Given the description of an element on the screen output the (x, y) to click on. 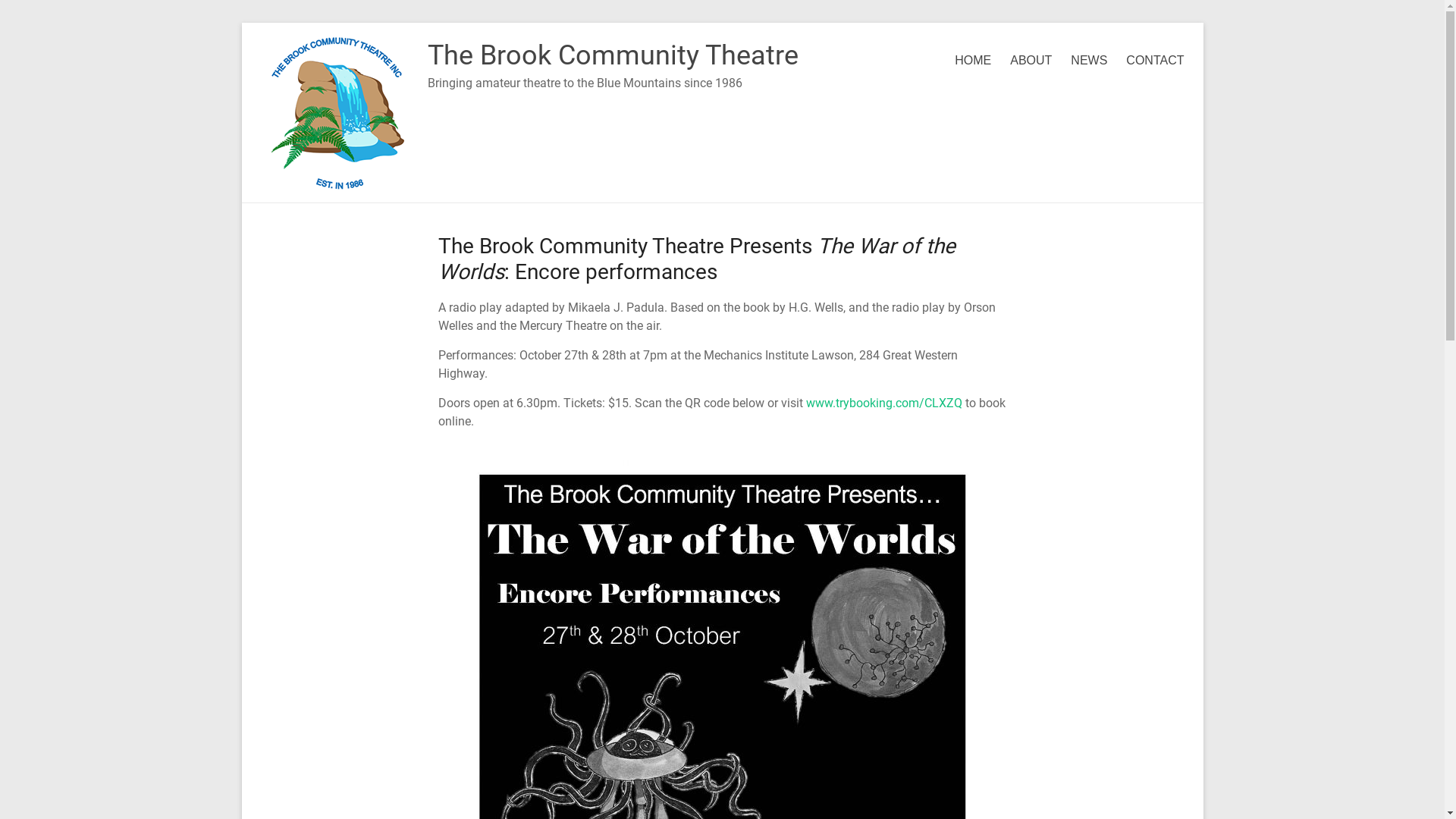
The Brook Community Theatre Element type: text (612, 55)
HOME Element type: text (972, 60)
CONTACT Element type: text (1154, 60)
Skip to content Element type: text (241, 21)
www.trybooking.com/CLXZQ Element type: text (883, 402)
NEWS Element type: text (1088, 60)
ABOUT Element type: text (1030, 60)
